Given the description of an element on the screen output the (x, y) to click on. 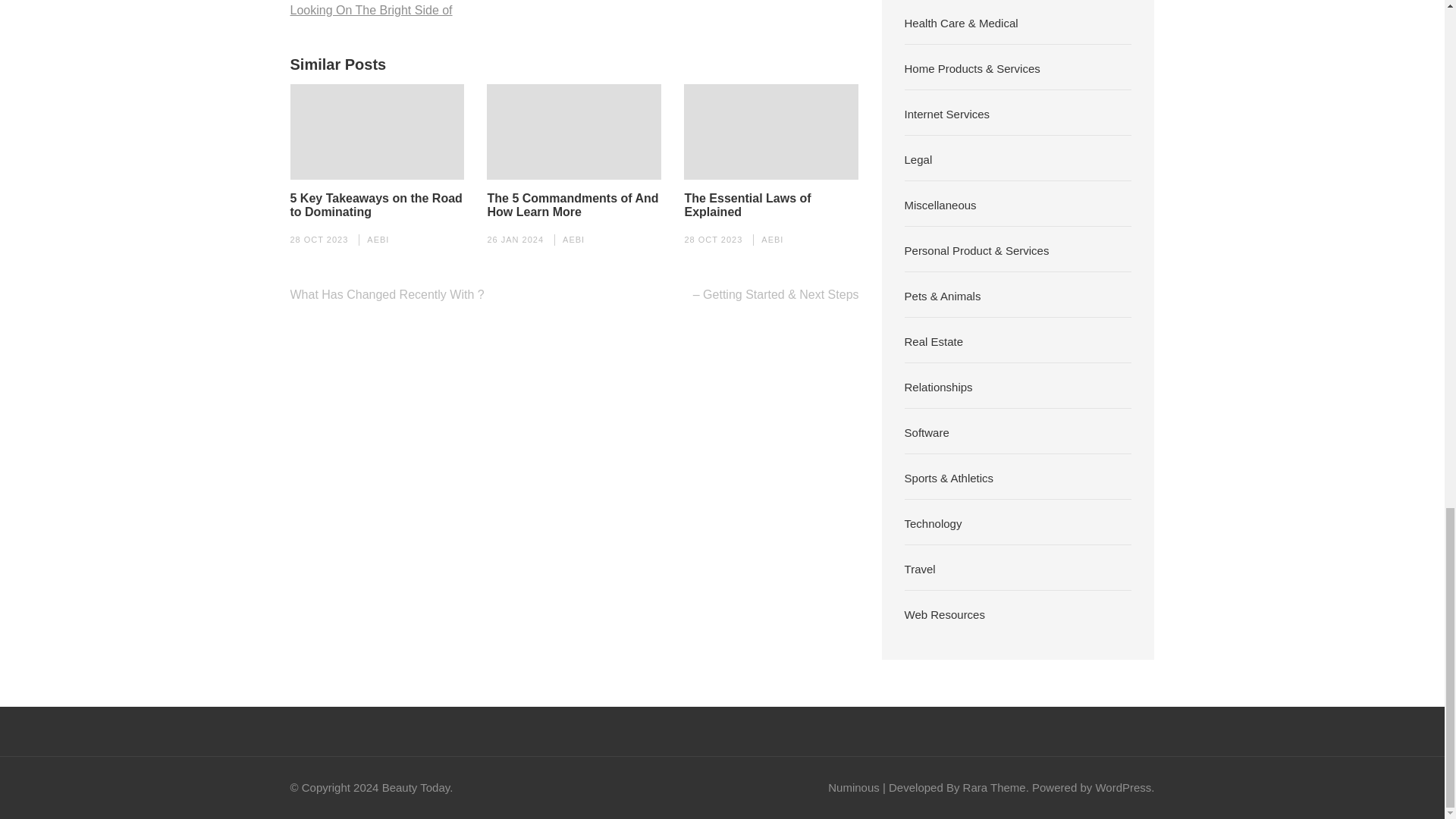
28 OCT 2023 (713, 239)
26 JAN 2024 (514, 239)
28 OCT 2023 (318, 239)
What Has Changed Recently With ? (386, 294)
The 5 Commandments of And How Learn More (573, 205)
AEBI (377, 239)
5 Key Takeaways on the Road to Dominating (376, 205)
Looking On The Bright Side of (370, 9)
AEBI (772, 239)
The Essential Laws of Explained (771, 205)
